Given the description of an element on the screen output the (x, y) to click on. 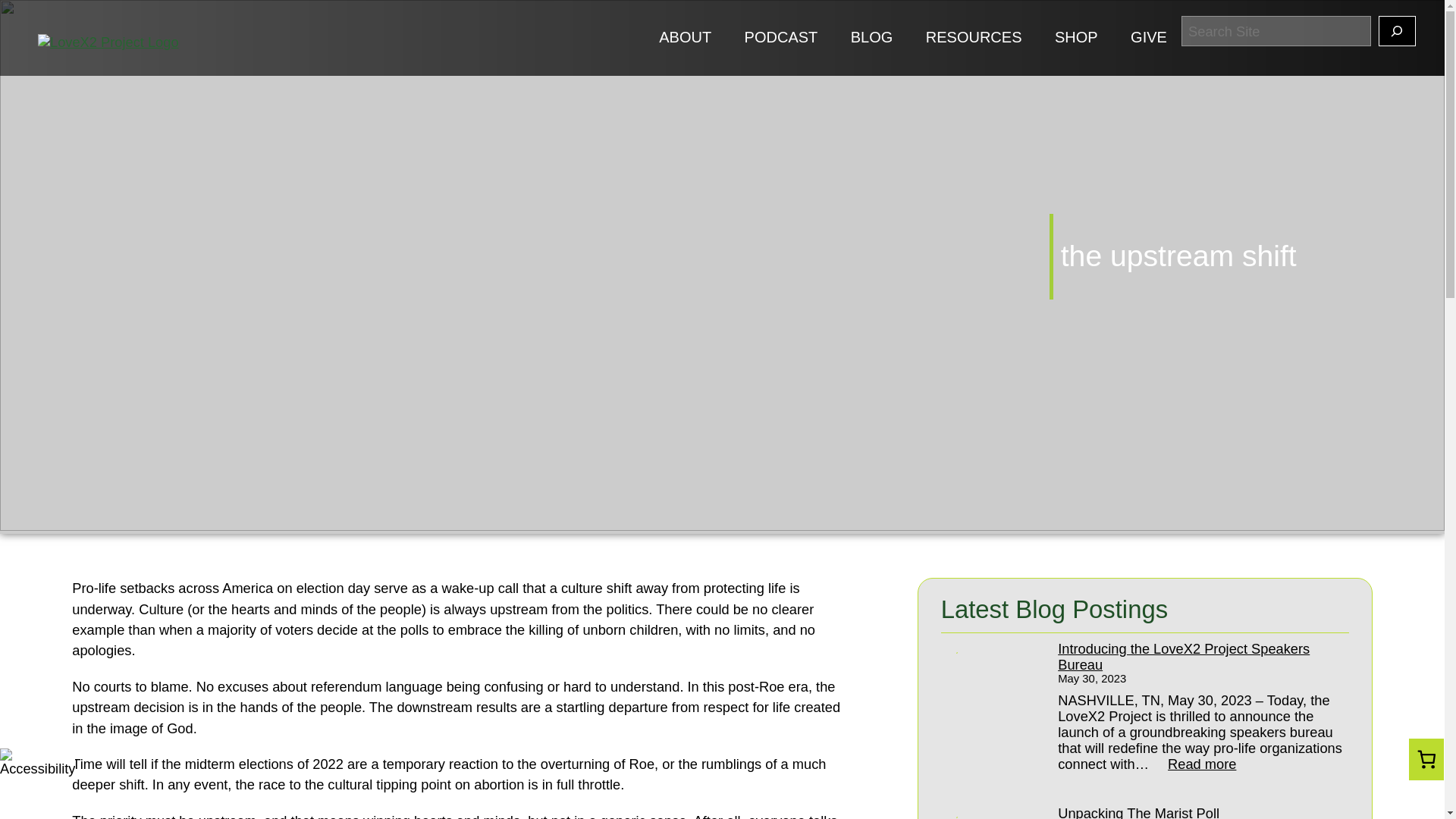
Introducing the LoveX2 Project Speakers Bureau (1195, 656)
Accessibility Helper sidebar (18, 762)
BLOG (871, 36)
Unpacking The Marist Poll (1195, 812)
RESOURCES (974, 36)
PODCAST (781, 36)
ABOUT (685, 36)
GIVE (1149, 36)
SHOP (1194, 763)
